Given the description of an element on the screen output the (x, y) to click on. 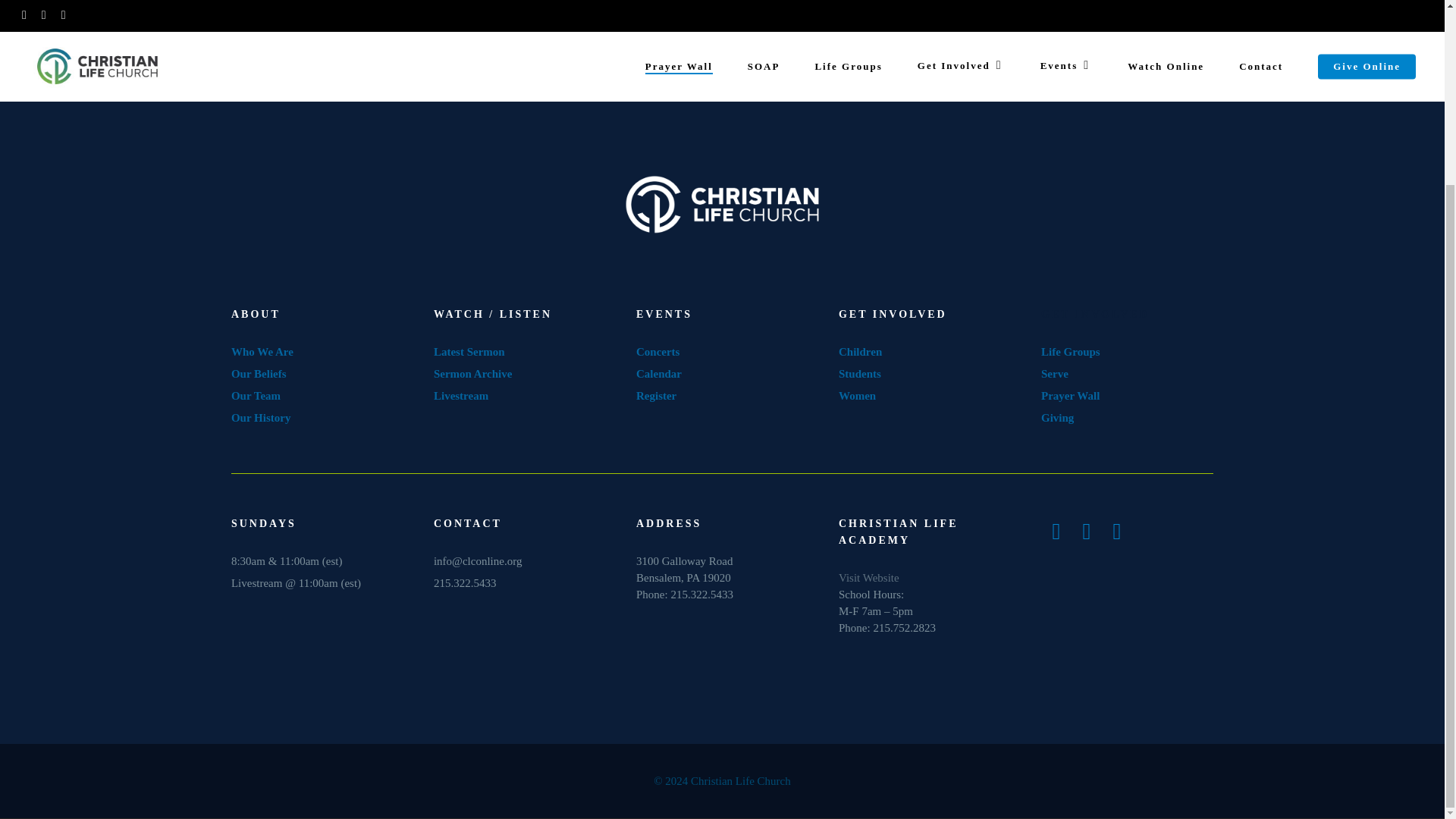
Our Beliefs (258, 373)
Children (860, 351)
Our History (260, 417)
Livestream (460, 395)
Register (656, 395)
Women  (858, 395)
Life Groups (1070, 351)
Latest Sermon (469, 351)
Sermon Archive (472, 373)
Students  (860, 373)
Who We Are (262, 351)
Our Team (256, 395)
Calendar (658, 373)
Concerts (657, 351)
